Given the description of an element on the screen output the (x, y) to click on. 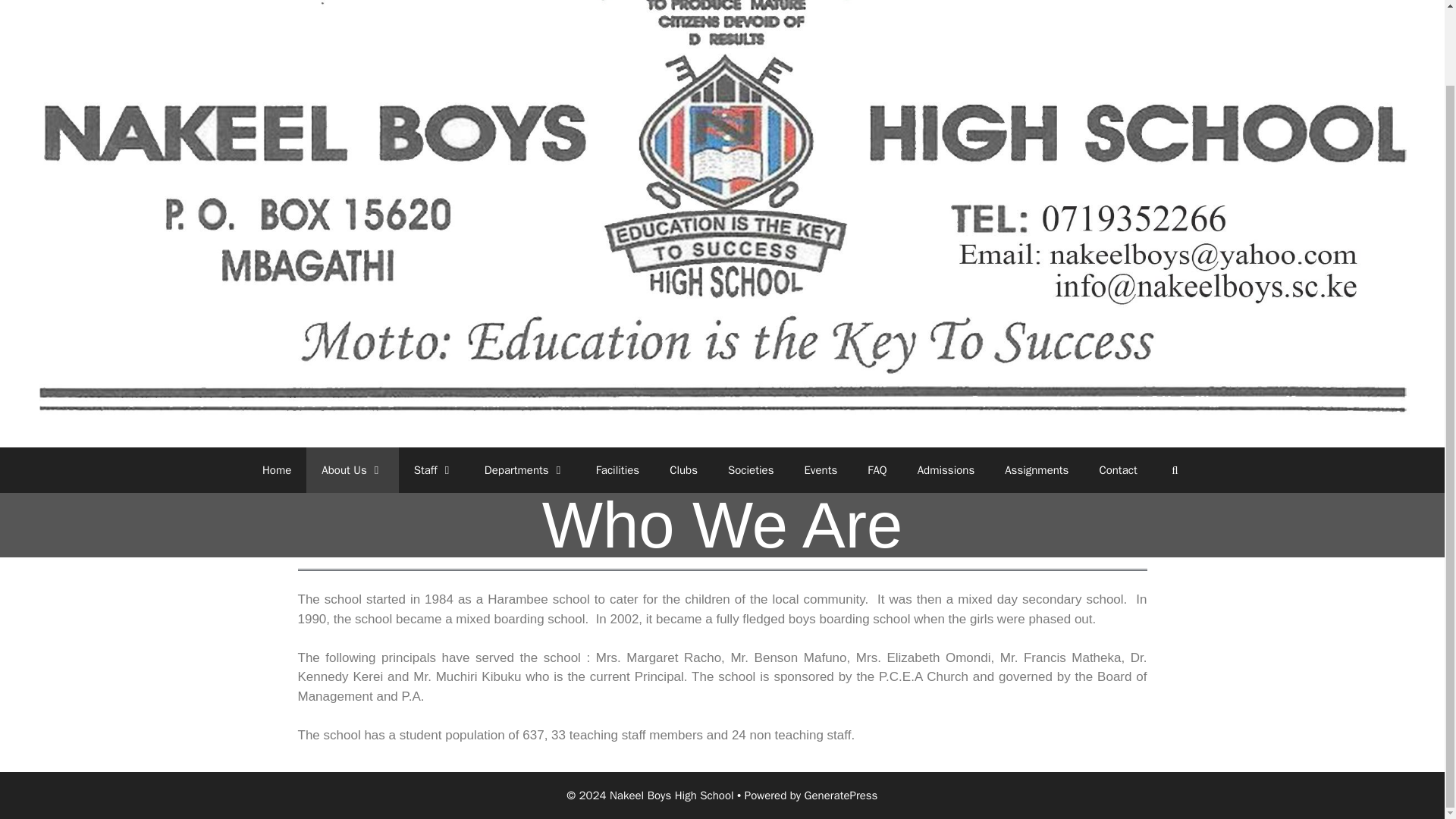
Nakeel Boys High School (721, 180)
Admissions (946, 470)
GeneratePress (841, 795)
Home (276, 470)
Search (1174, 470)
Staff (433, 470)
Events (820, 470)
Societies (751, 470)
Contact (1117, 470)
FAQ (876, 470)
Facilities (617, 470)
Departments (524, 470)
Search (1174, 470)
Assignments (1036, 470)
